Given the description of an element on the screen output the (x, y) to click on. 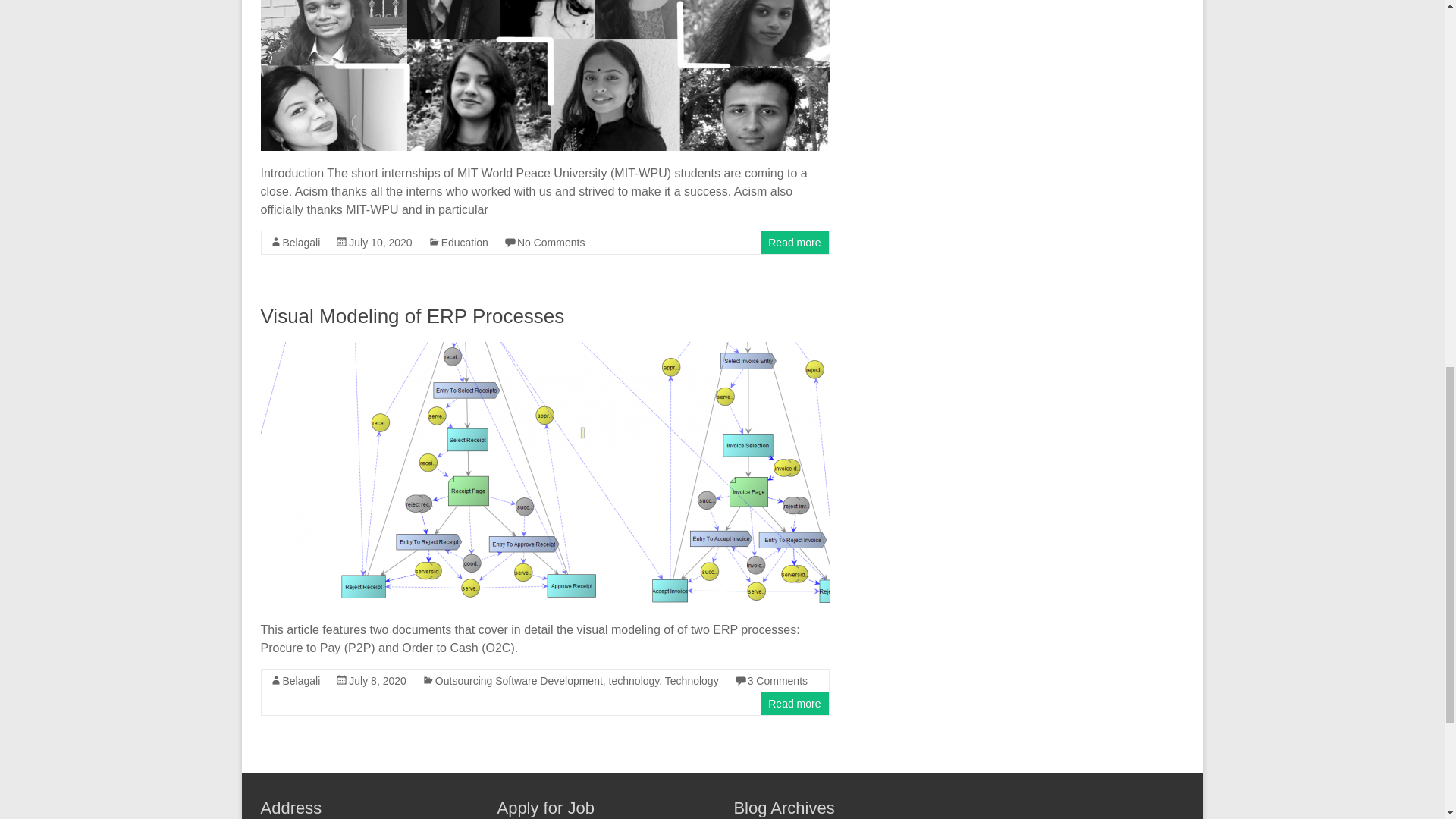
2:42 pm (377, 680)
Read more (794, 242)
10:26 am (380, 242)
No Comments (550, 242)
Education (464, 242)
Visual Modeling of ERP Processes (412, 315)
July 10, 2020 (380, 242)
Belagali (301, 242)
Visual Modeling of ERP Processes (544, 349)
Remote Internships of MIT-WPU Students, July 2020 (544, 75)
